Given the description of an element on the screen output the (x, y) to click on. 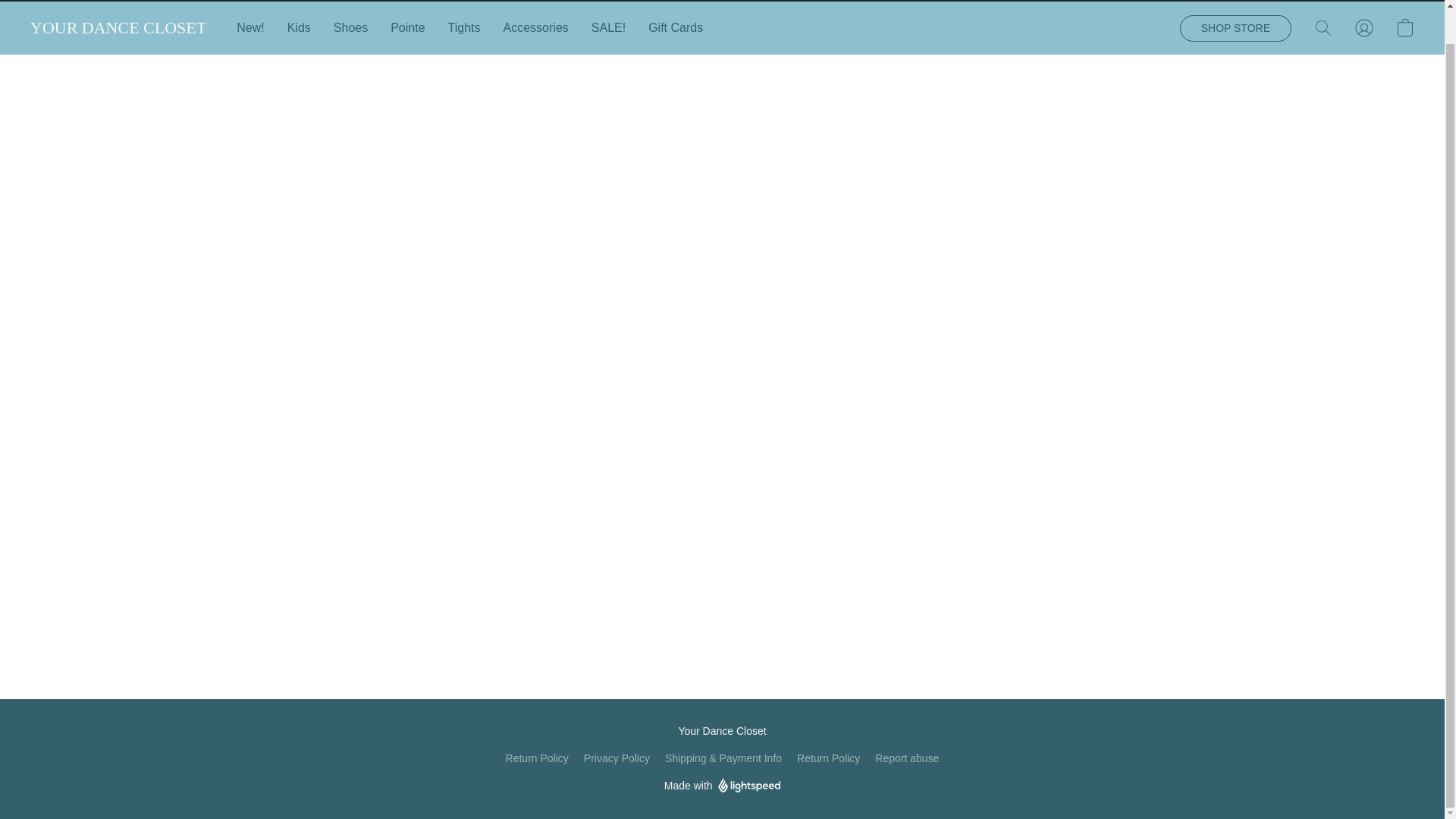
Gift Cards (670, 27)
Report abuse (907, 758)
SALE! (608, 27)
Tights (464, 27)
Accessories (535, 27)
Pointe (406, 27)
YOUR DANCE CLOSET (118, 27)
Go to your shopping cart (1404, 28)
Return Policy (828, 758)
New! (255, 27)
Kids (298, 27)
Privacy Policy (616, 758)
SHOP STORE (1235, 28)
Return Policy (537, 758)
Search the website (1323, 28)
